Given the description of an element on the screen output the (x, y) to click on. 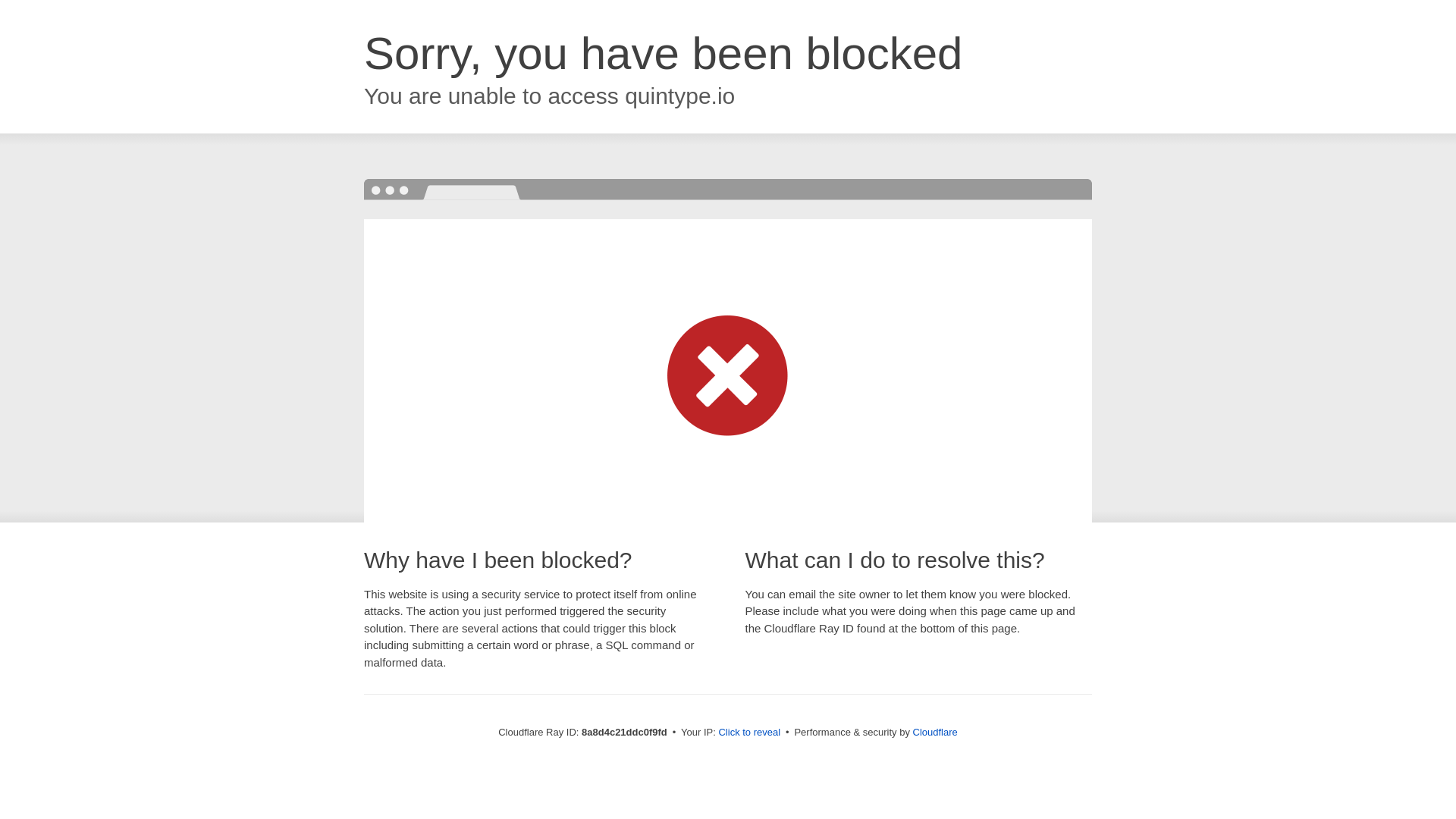
Cloudflare (935, 731)
Click to reveal (748, 732)
